Given the description of an element on the screen output the (x, y) to click on. 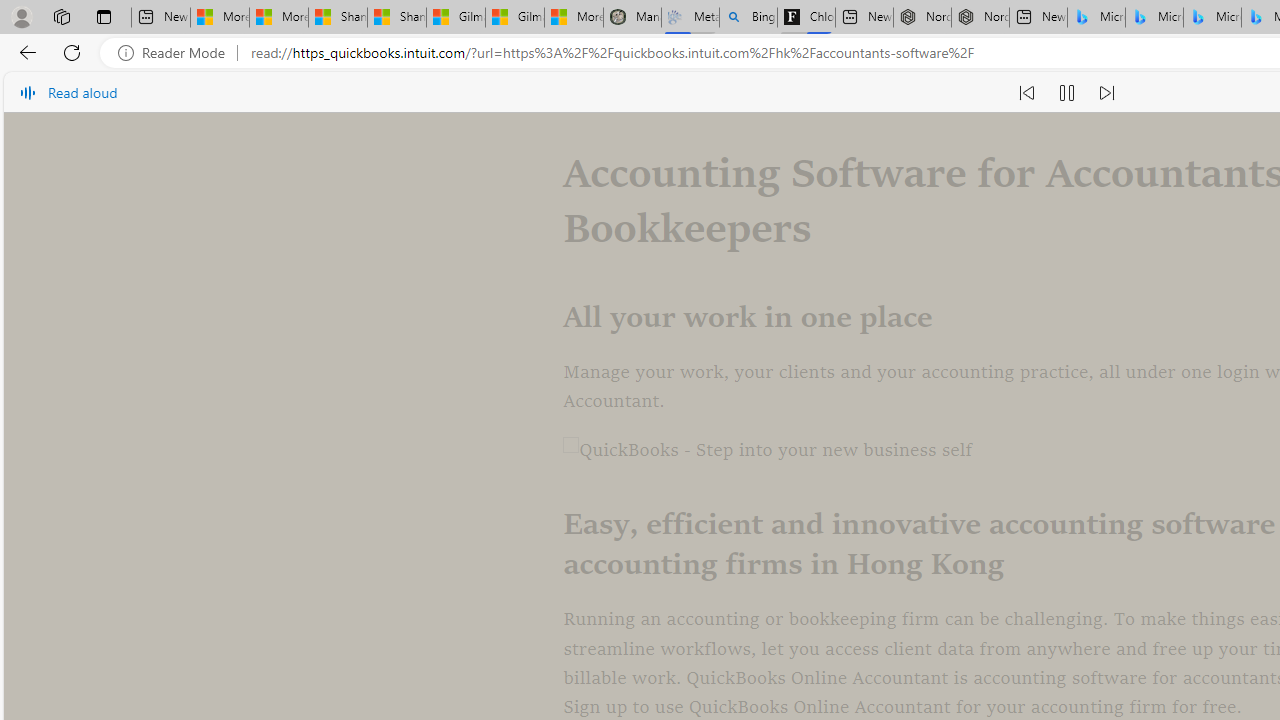
Pause read aloud (Ctrl+Shift+U) (1065, 92)
Manatee Mortality Statistics | FWC (632, 17)
Read previous paragraph (1026, 92)
Read next paragraph (1105, 92)
Chloe Sorvino (806, 17)
